Given the description of an element on the screen output the (x, y) to click on. 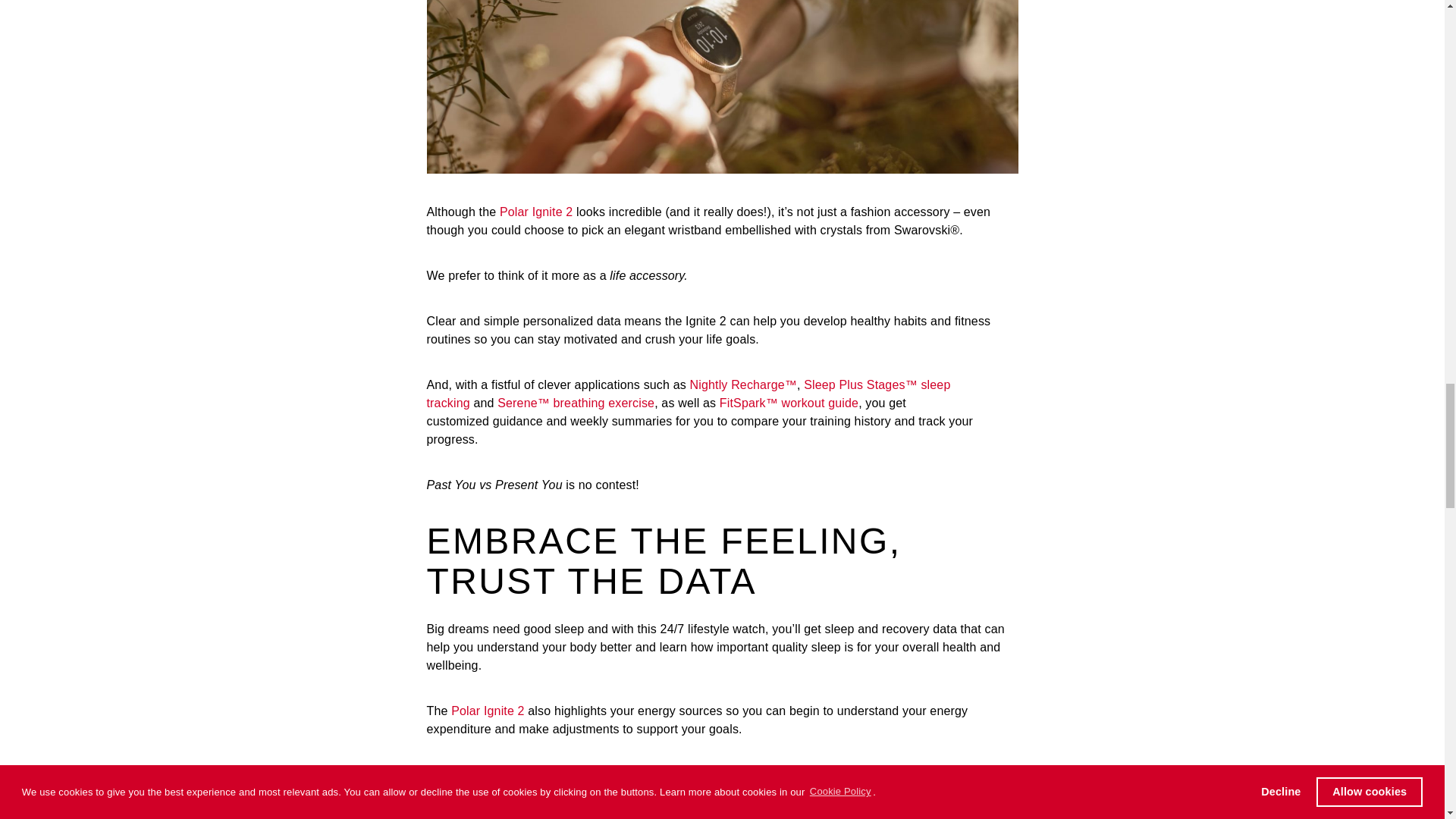
Polar Ignite 2 (536, 211)
Training Load Pro (502, 774)
Polar Ignite 2 (487, 710)
Polar Running Program (644, 774)
